Given the description of an element on the screen output the (x, y) to click on. 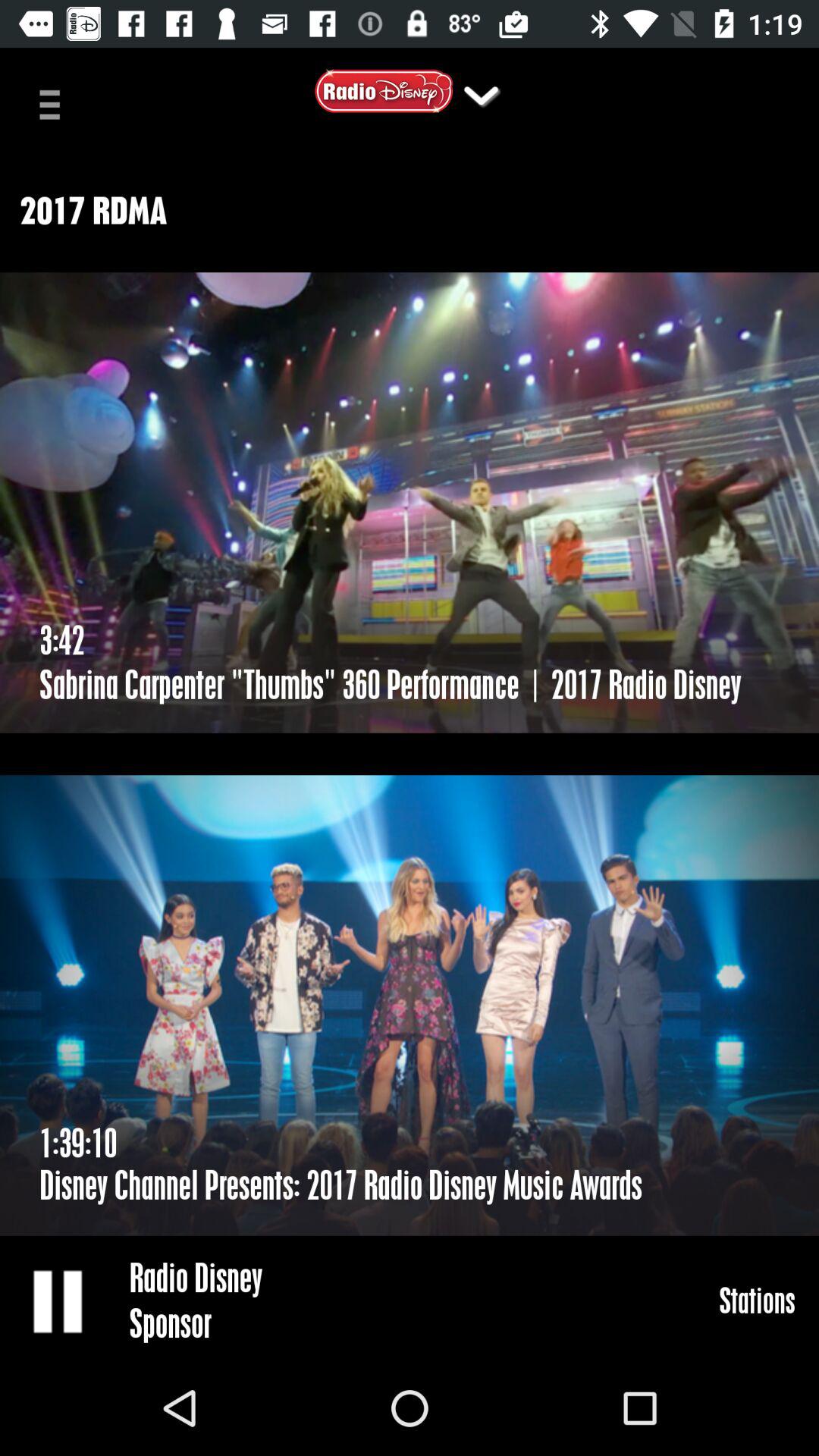
launch item at the top left corner (55, 103)
